Given the description of an element on the screen output the (x, y) to click on. 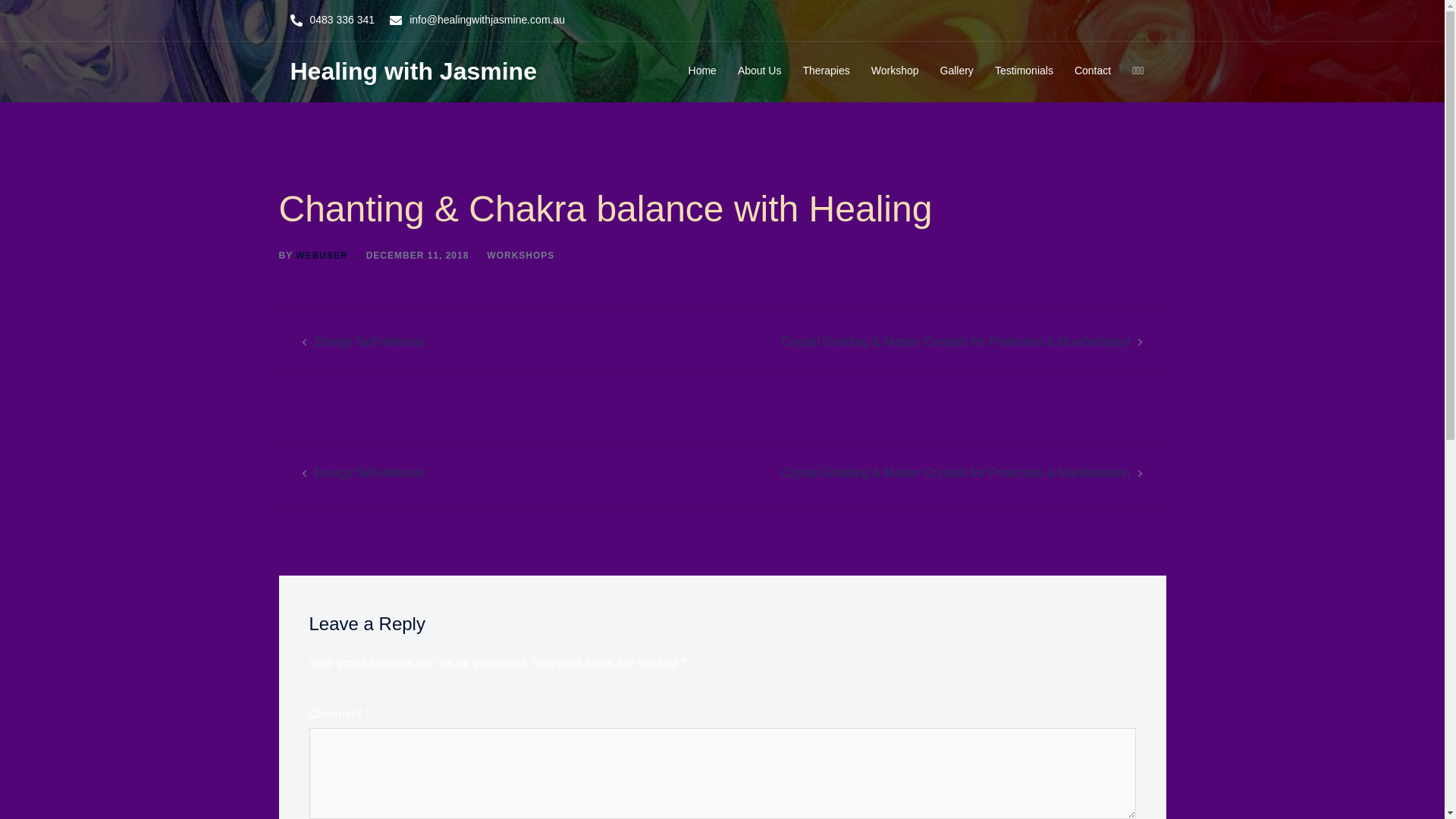
Energy Self-defence Element type: text (368, 472)
WORKSHOPS Element type: text (520, 255)
Workshop Element type: text (895, 71)
DECEMBER 11, 2018 Element type: text (417, 255)
Healing with Jasmine Element type: text (412, 70)
About Us Element type: text (759, 71)
0483 336 341 Element type: text (341, 19)
Testimonials Element type: text (1023, 71)
Home Element type: text (702, 71)
info@healingwithjasmine.com.au Element type: text (486, 19)
Therapies Element type: text (825, 71)
Gallery Element type: text (956, 71)
Contact Element type: text (1092, 71)
Energy Self-defence Element type: text (368, 341)
WEBUSER Element type: text (321, 255)
